Given the description of an element on the screen output the (x, y) to click on. 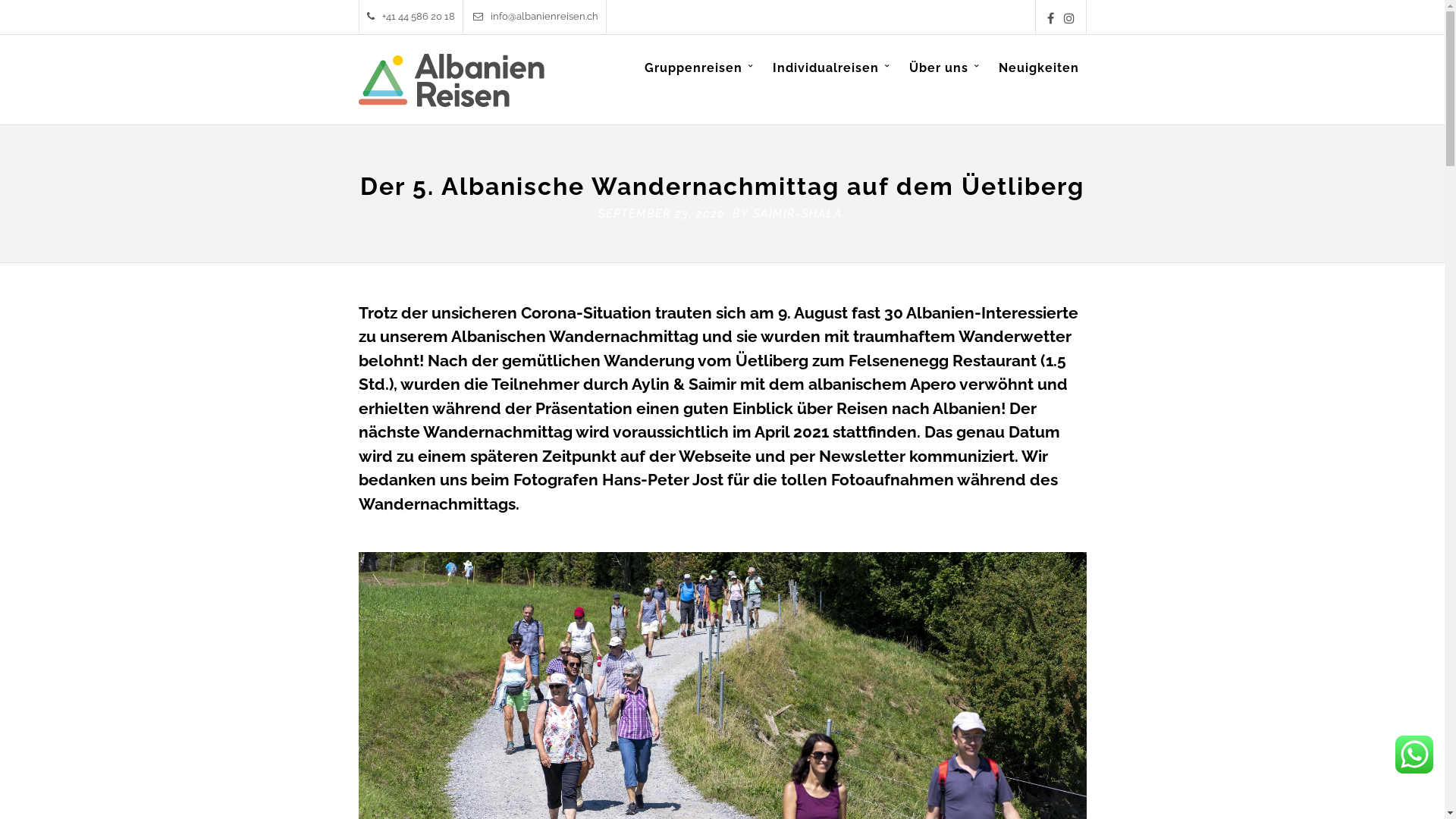
Gruppenreisen Element type: text (699, 79)
+41 44 586 20 18 Element type: text (411, 15)
Instagram Element type: hover (1068, 17)
info@albanienreisen.ch Element type: text (535, 15)
Neuigkeiten Element type: text (1037, 79)
SAIMIR-SHALA Element type: text (797, 213)
Individualreisen Element type: text (830, 79)
